Given the description of an element on the screen output the (x, y) to click on. 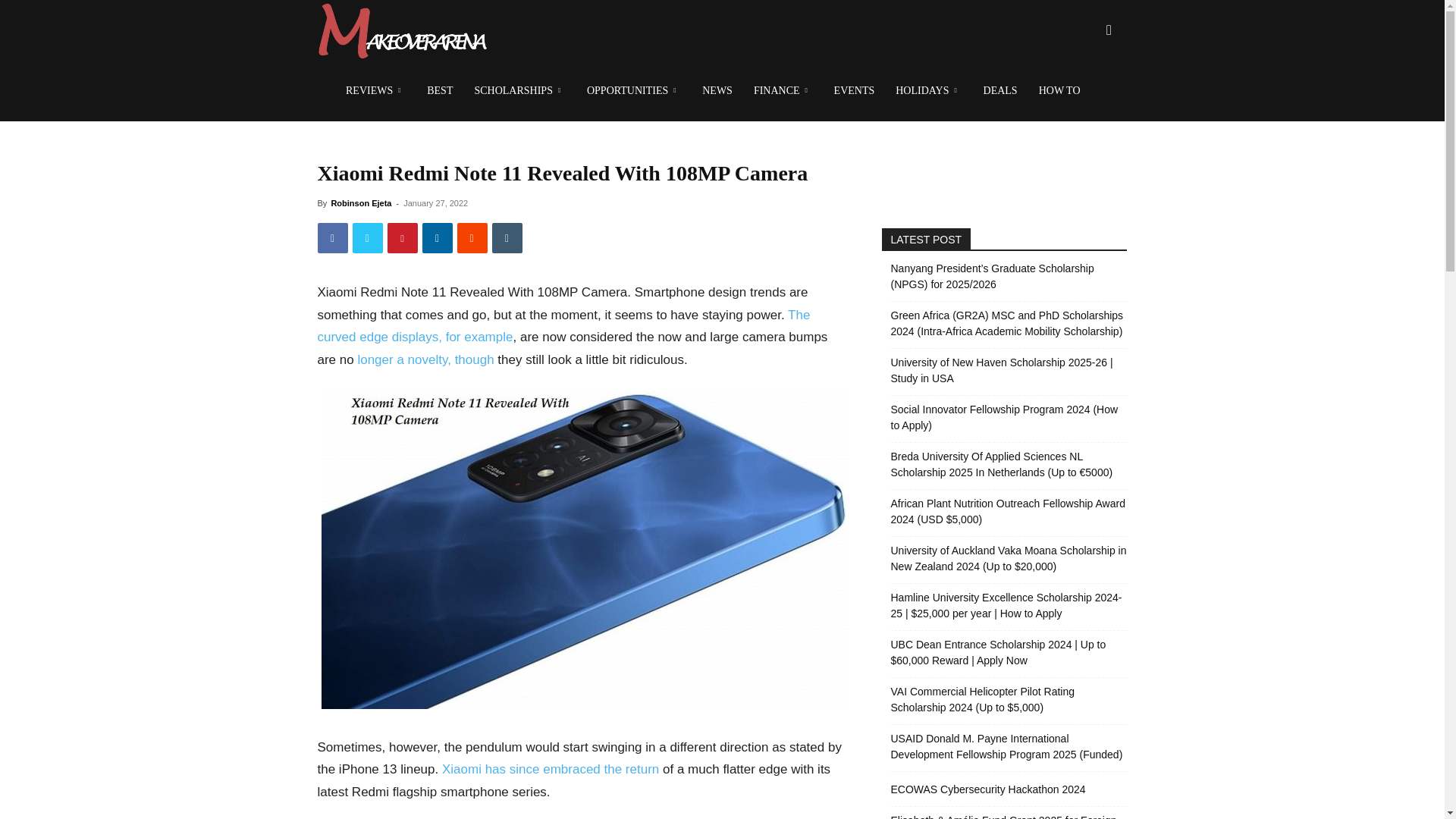
Pinterest (401, 237)
Tumblr (506, 237)
ReddIt (471, 237)
Twitter (366, 237)
Facebook (332, 237)
Linkedin (436, 237)
